Given the description of an element on the screen output the (x, y) to click on. 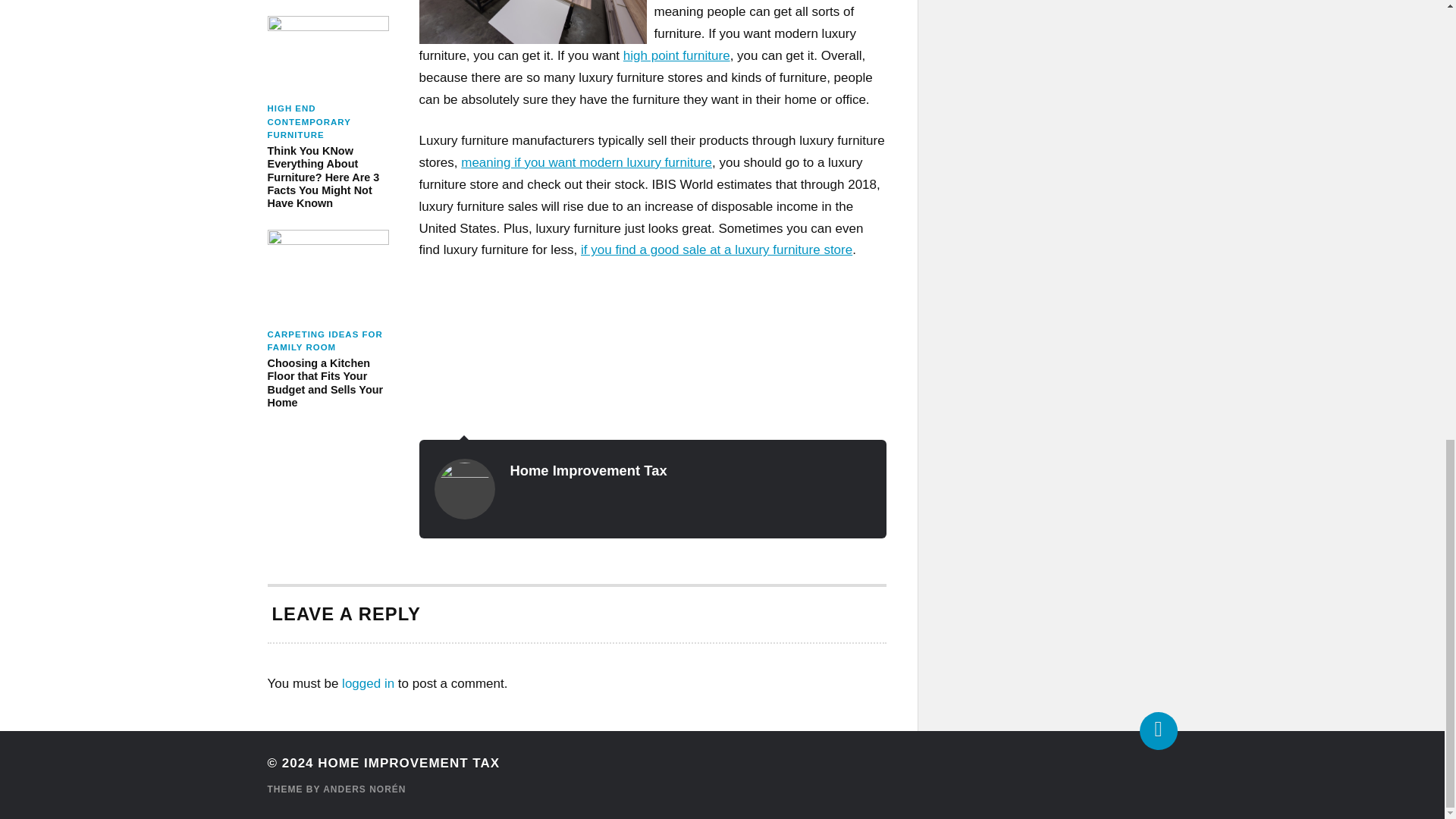
More for you (715, 249)
Home Improvement Tax (587, 470)
meaning if you want modern luxury furniture (586, 162)
if you find a good sale at a luxury furniture store (715, 249)
high point furniture (676, 55)
HOME IMPROVEMENT TAX (408, 762)
Great stuff (586, 162)
logged in (368, 683)
